Given the description of an element on the screen output the (x, y) to click on. 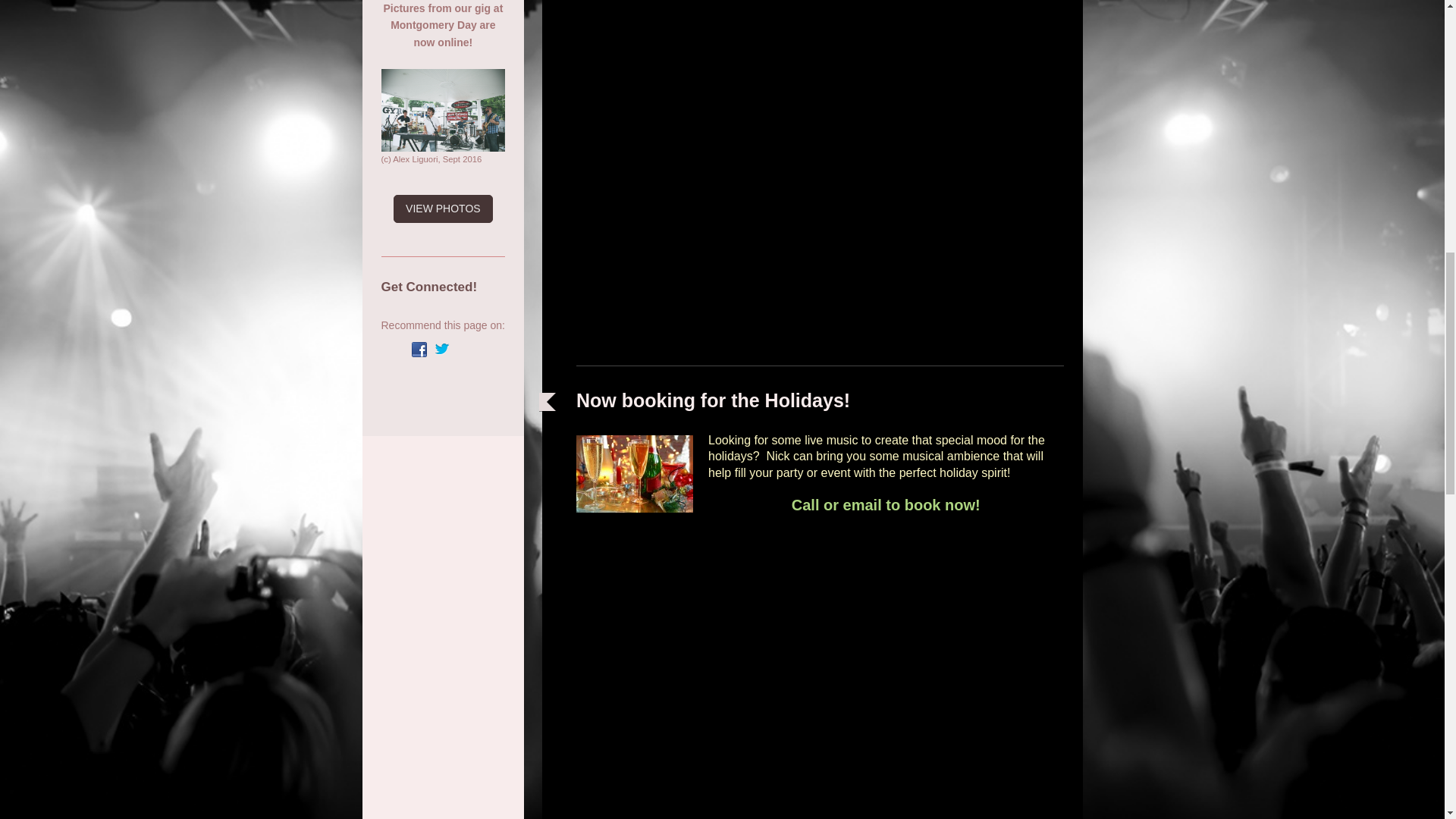
Twitter (440, 349)
Facebook (418, 349)
VIEW PHOTOS (443, 208)
